Given the description of an element on the screen output the (x, y) to click on. 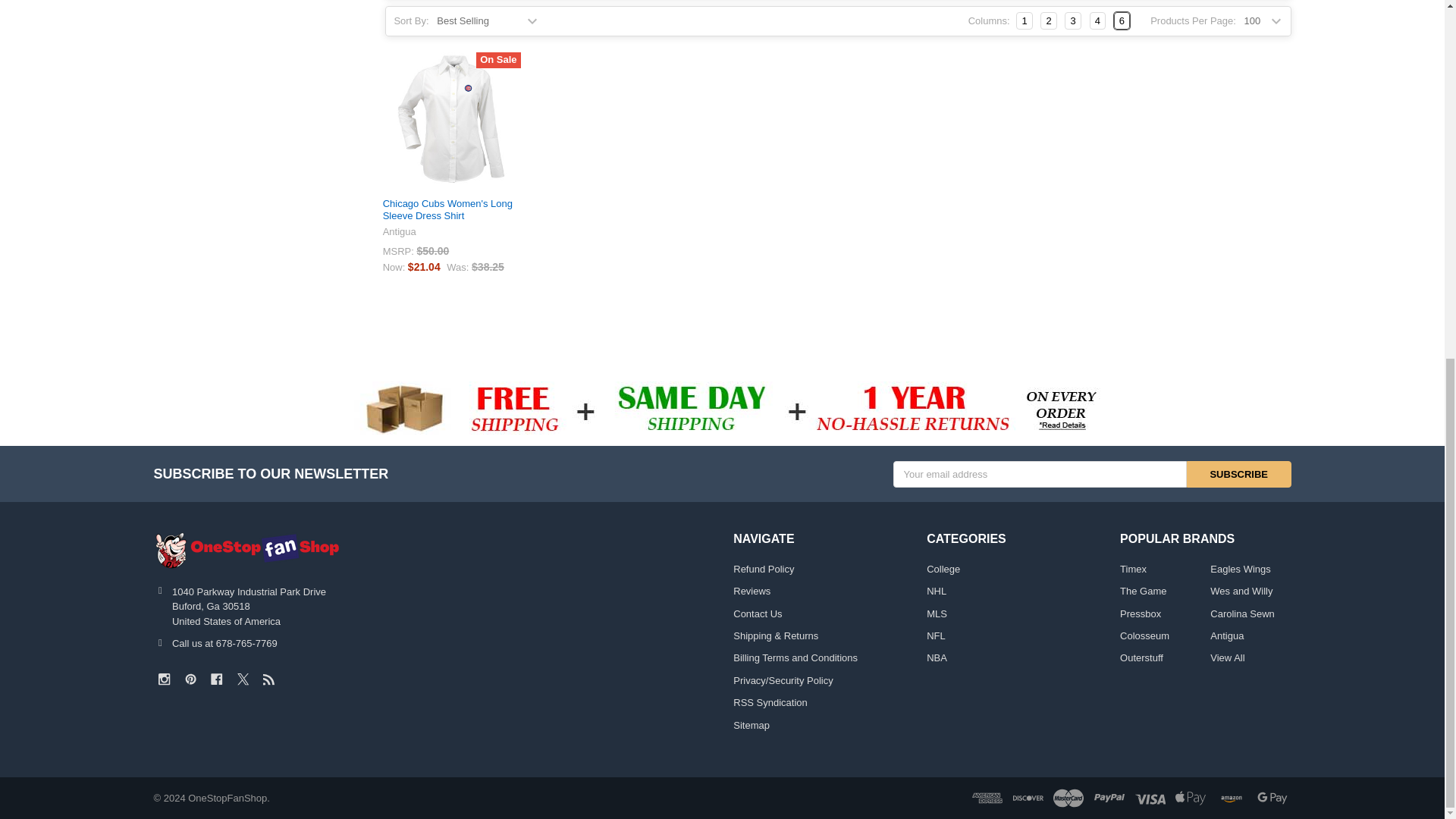
OneStopFanShop (247, 550)
1 (1024, 21)
2 (1049, 21)
4 (1097, 21)
3 (1072, 21)
Subscribe (1238, 474)
